Given the description of an element on the screen output the (x, y) to click on. 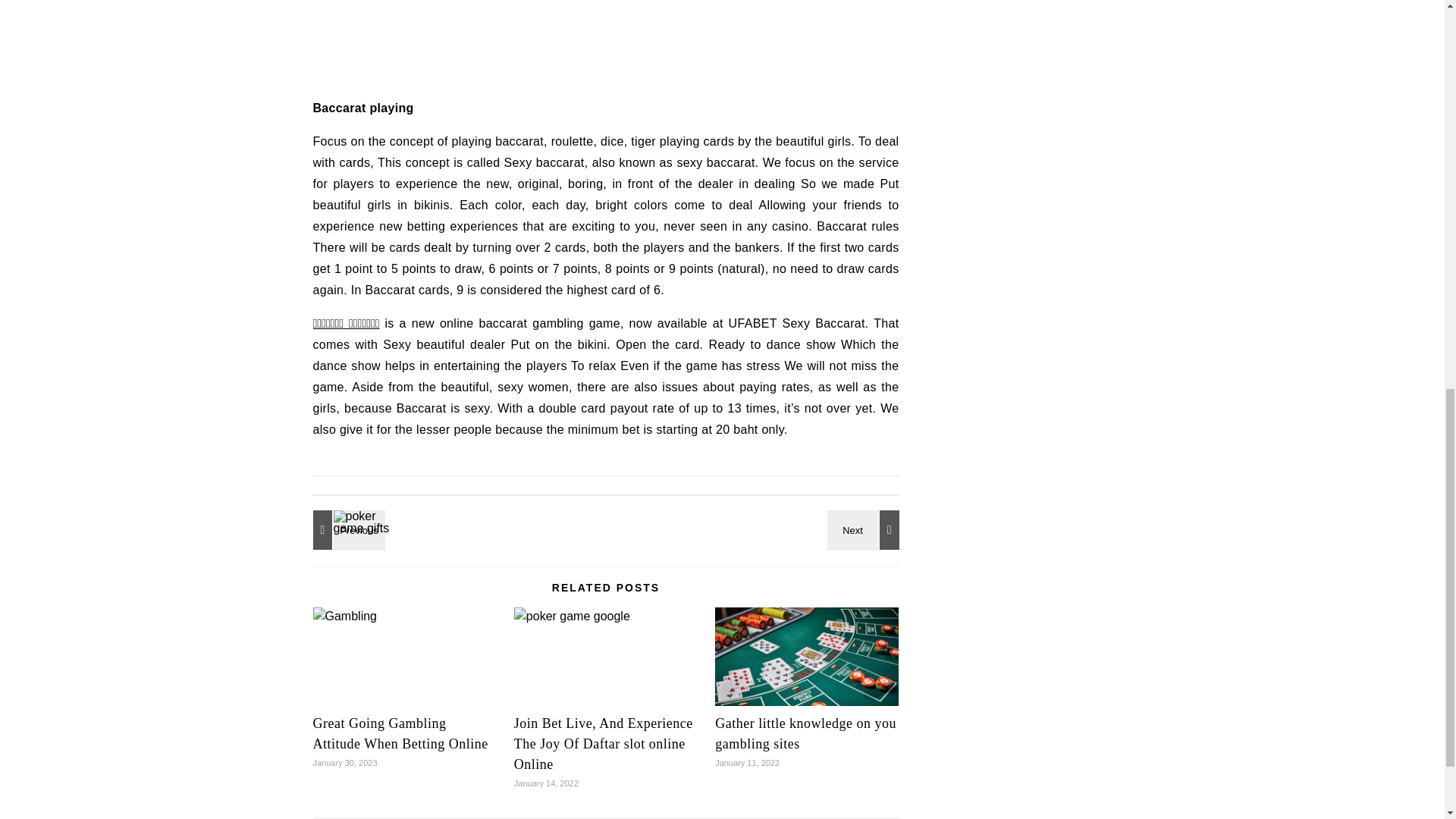
Great Going Gambling Attitude When Betting Online (400, 733)
The Secrets Of A Profitable Football Betting Experience (346, 529)
Gather little knowledge on you gambling sites (805, 733)
